Given the description of an element on the screen output the (x, y) to click on. 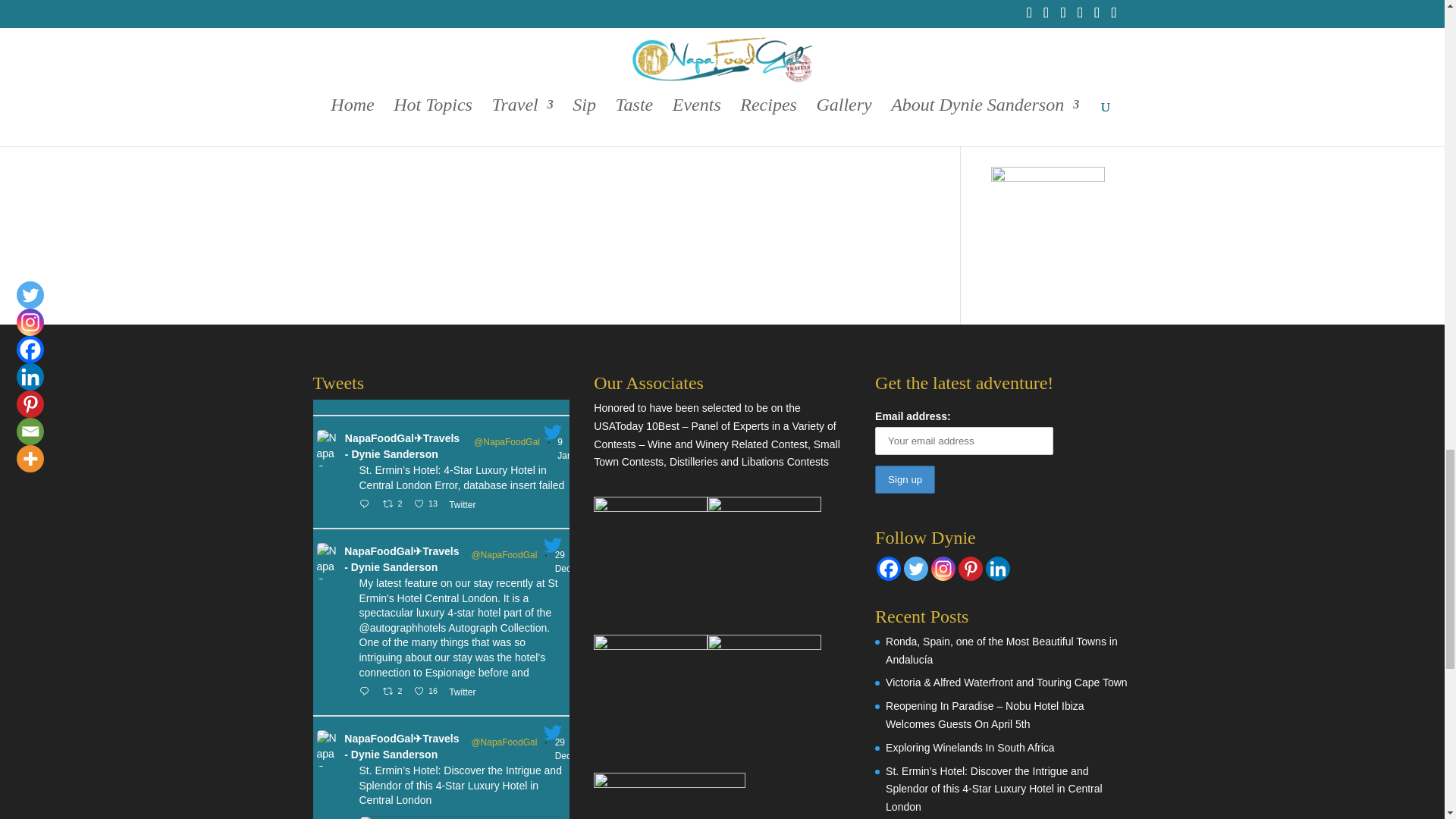
Sign up (904, 479)
